Given the description of an element on the screen output the (x, y) to click on. 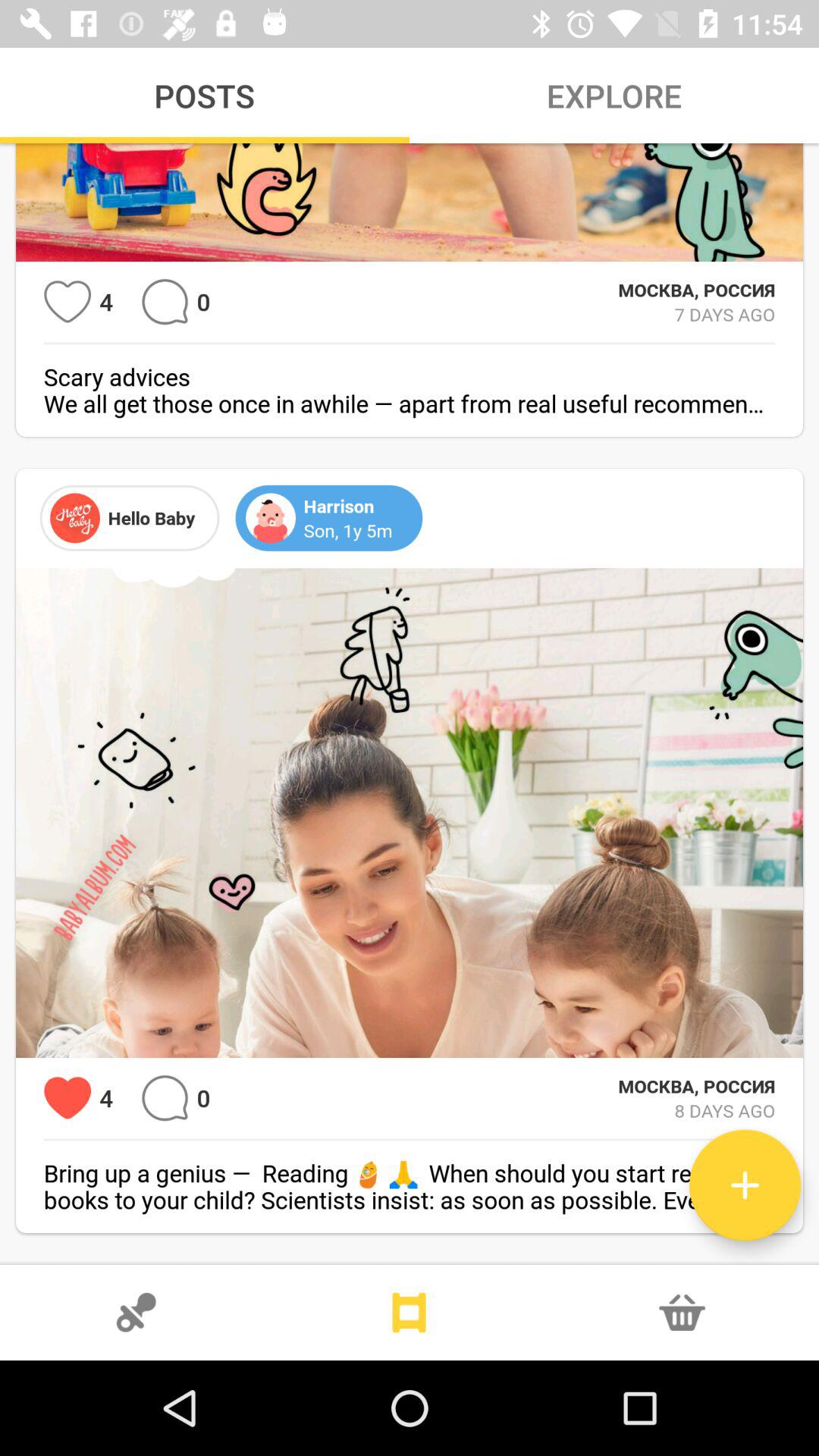
turn on icon to the left of 4 icon (67, 1098)
